Given the description of an element on the screen output the (x, y) to click on. 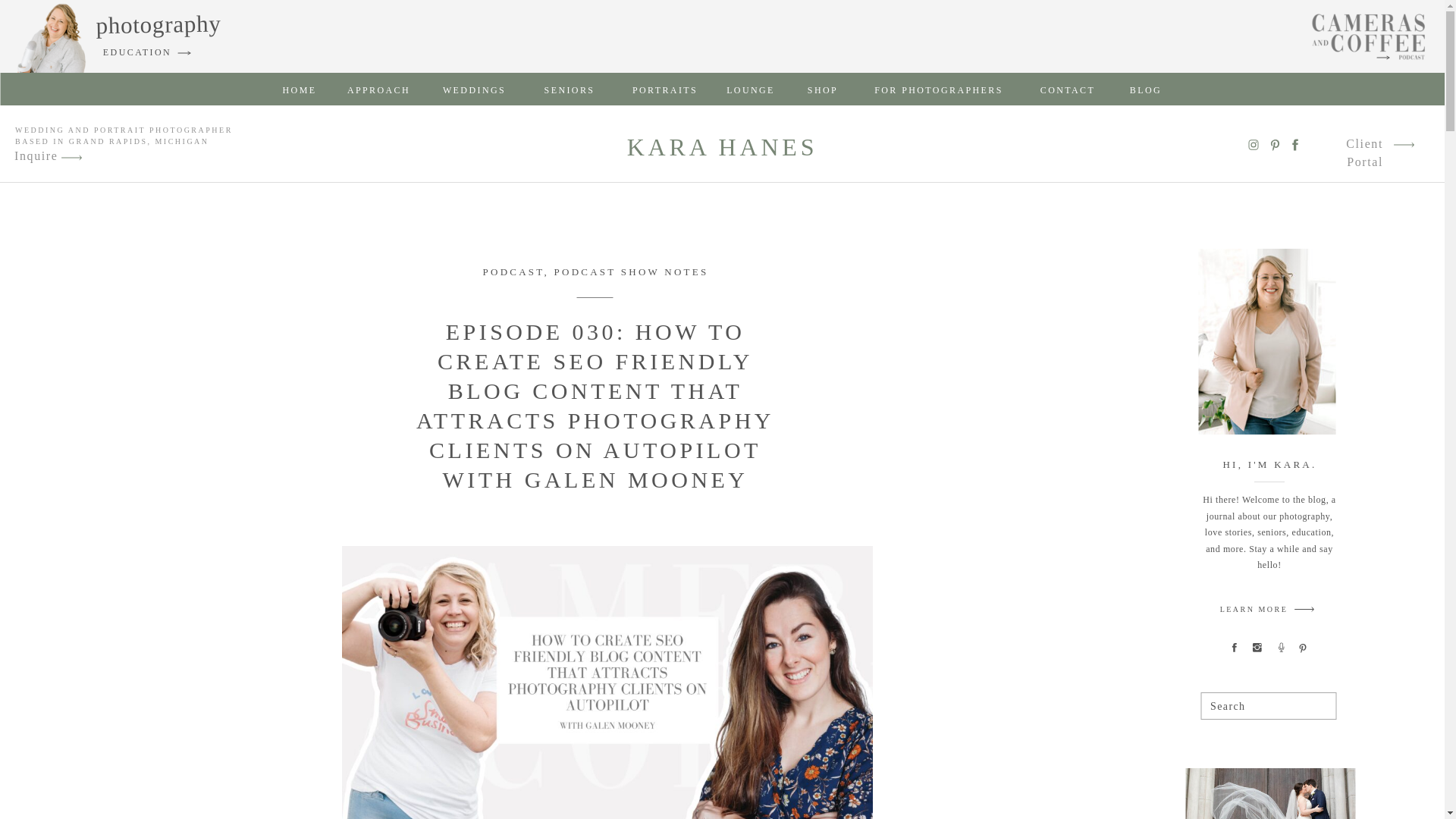
BLOG (1145, 89)
arrow (71, 157)
arrow (71, 157)
SHOP (823, 89)
LOUNGE (751, 89)
SENIORS (569, 89)
arrow (1403, 144)
arrow (1303, 609)
arrow (1403, 144)
HOME (299, 89)
